Given the description of an element on the screen output the (x, y) to click on. 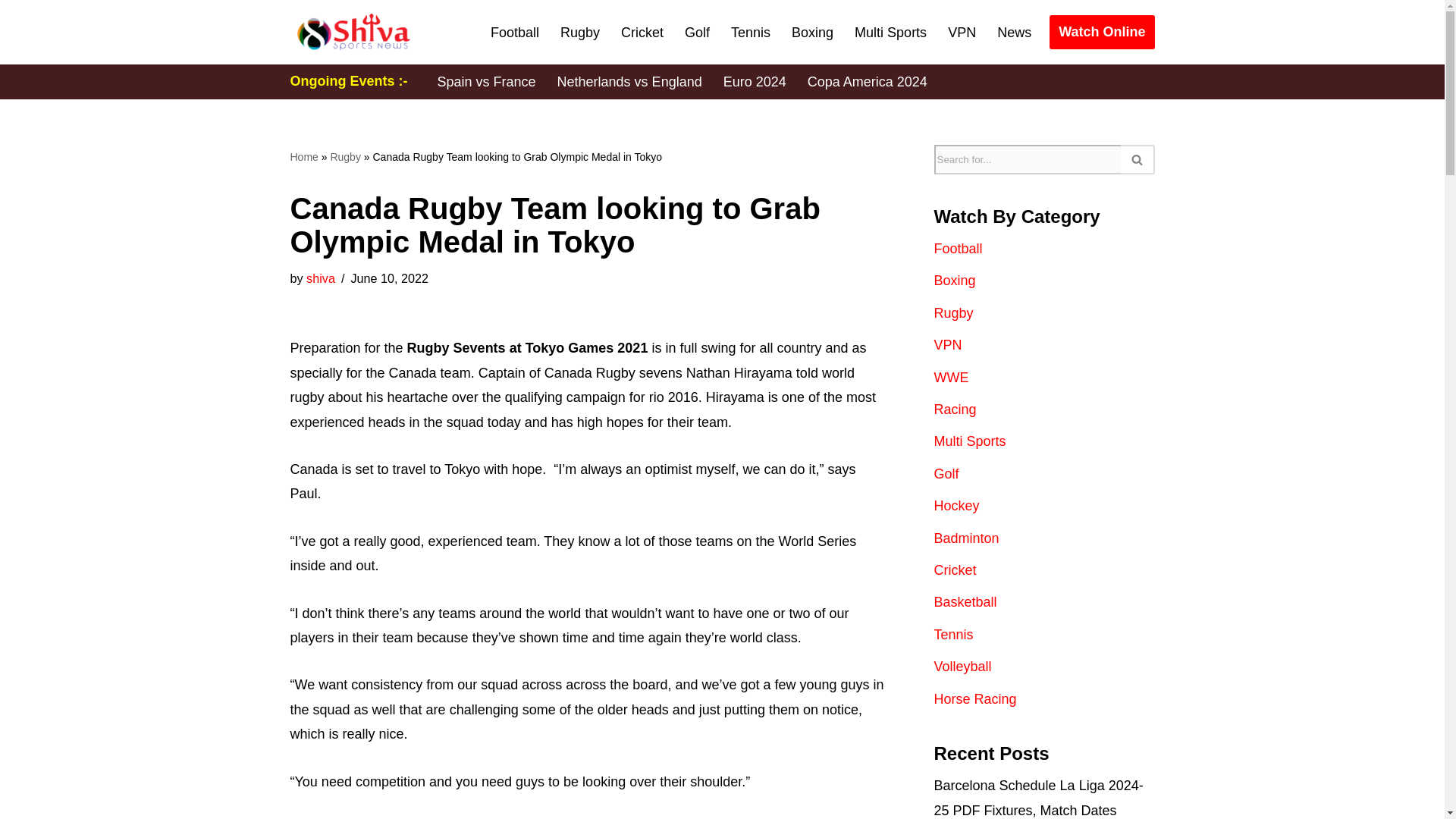
Multi Sports (890, 32)
News (1013, 32)
Golf (697, 32)
Posts by shiva (319, 278)
VPN (961, 32)
shiva (319, 278)
Football (958, 248)
Spain vs France (485, 81)
Football (514, 32)
Home (303, 156)
